Given the description of an element on the screen output the (x, y) to click on. 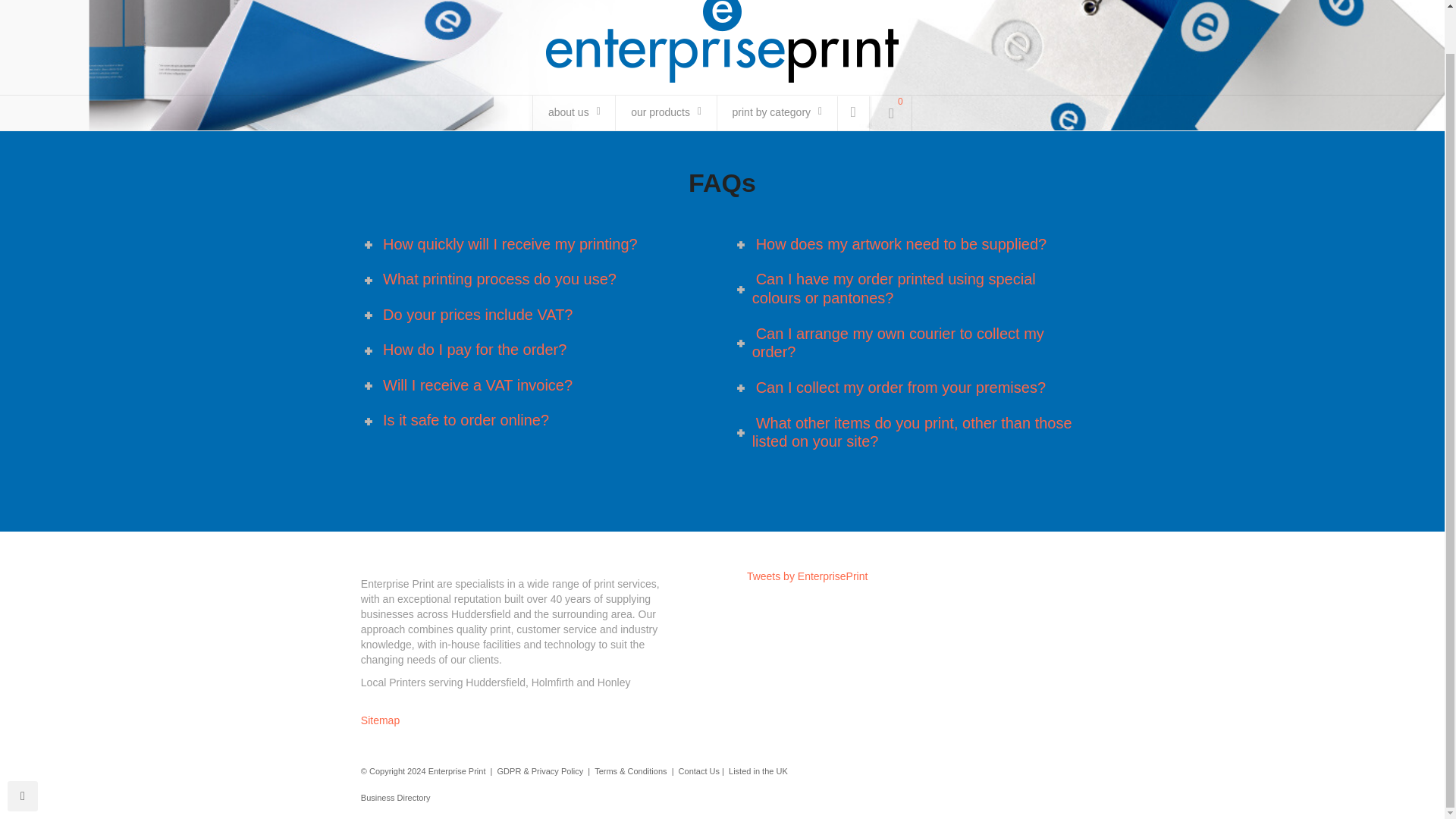
our products (664, 112)
My Account (853, 113)
print by category (775, 112)
Sitemap (379, 720)
about us (571, 112)
Tweets by EnterprisePrint (806, 576)
0 (891, 113)
